Given the description of an element on the screen output the (x, y) to click on. 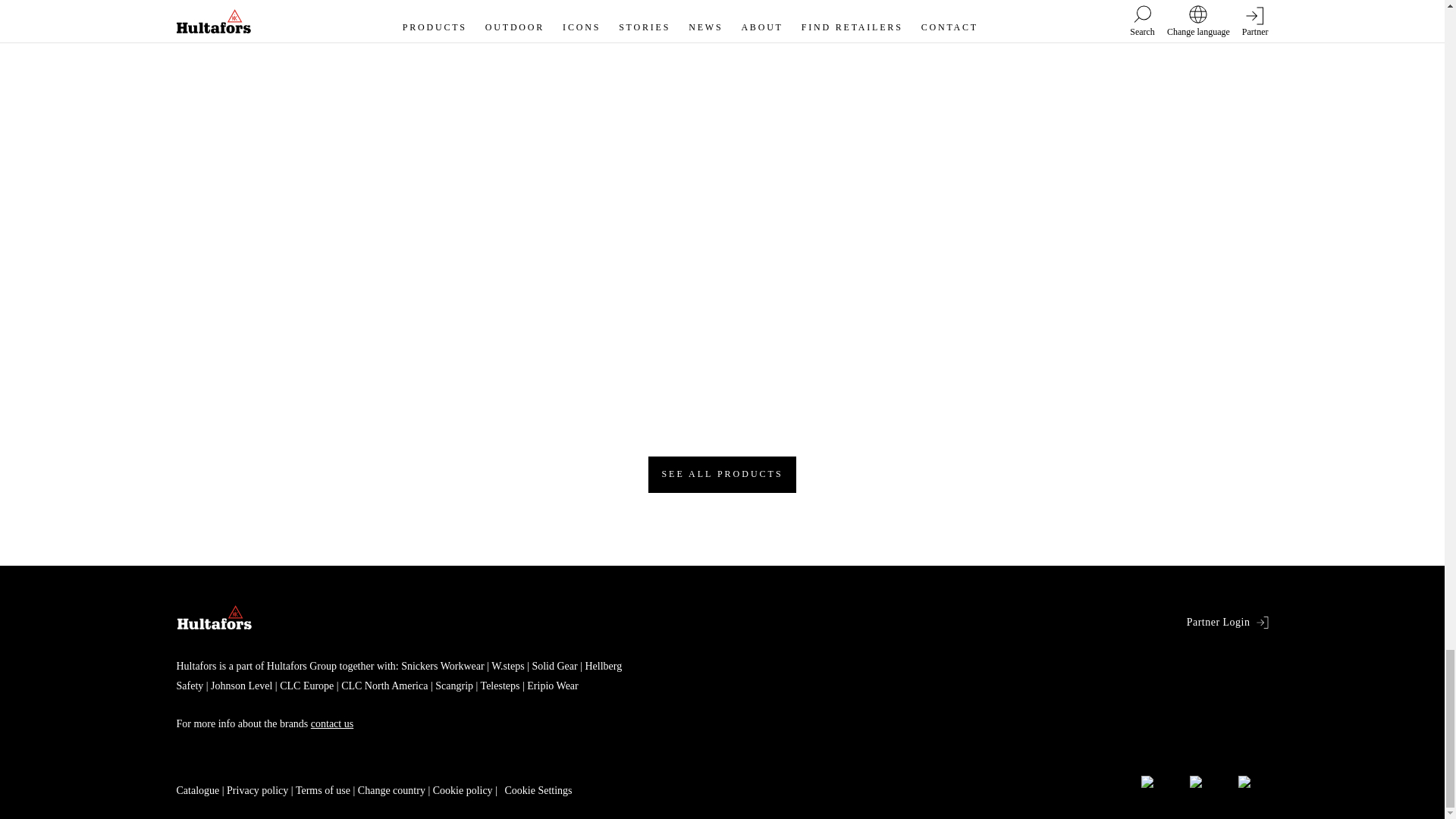
W.steps (504, 665)
Partner Login (1227, 622)
Hultafors Group (301, 665)
Cookie Settings (537, 790)
Scangrip (450, 685)
CLC North America (380, 685)
Hellberg Safety (398, 675)
Catalogue (197, 790)
Solid Gear (551, 665)
Terms of use (322, 790)
Snickers Workwear (442, 665)
Cookie policy (462, 790)
Eripio Wear (548, 685)
SEE ALL PRODUCTS (720, 474)
Change country (391, 790)
